Given the description of an element on the screen output the (x, y) to click on. 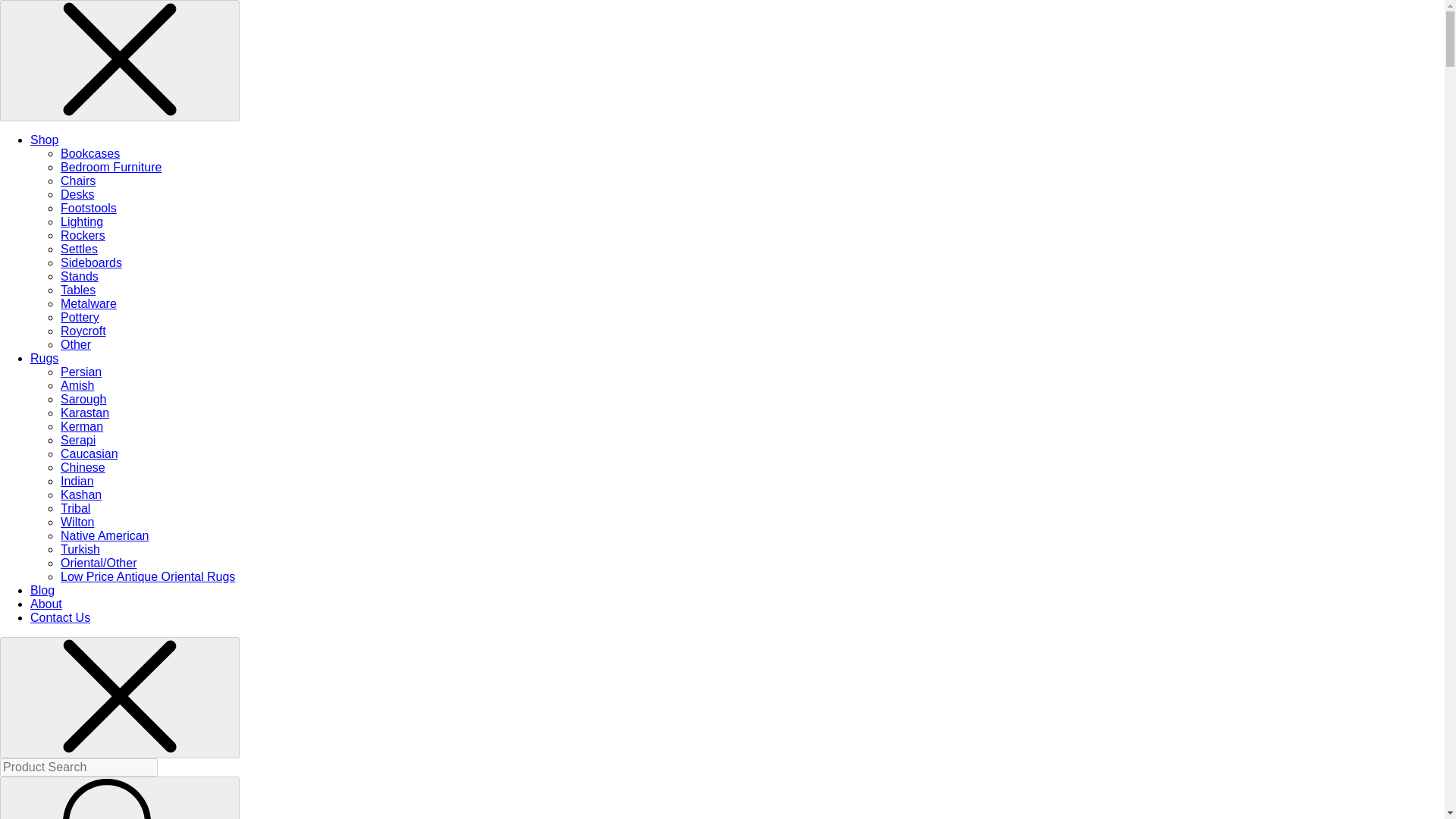
About (46, 603)
Sideboards (91, 262)
Native American (105, 535)
Bookcases (90, 153)
Amish (77, 385)
Other (75, 344)
Lighting (82, 221)
Chairs (78, 180)
Serapi (78, 440)
Settles (79, 248)
